Given the description of an element on the screen output the (x, y) to click on. 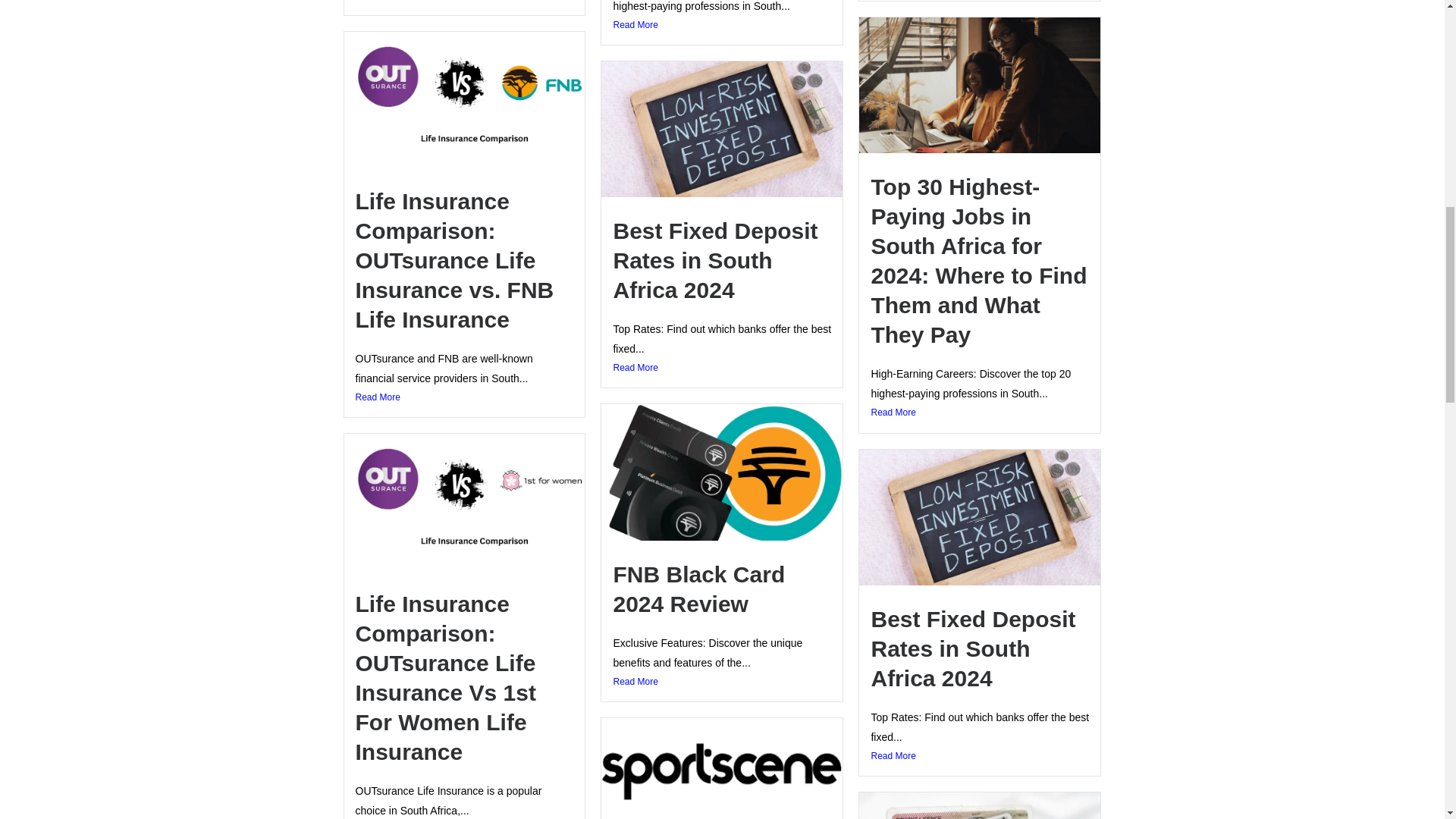
Read More (464, 2)
FNB Black Card 2024 Review (698, 588)
Best Fixed Deposit Rates in South Africa 2024 (714, 260)
Best Fixed Deposit Rates in South Africa 2024 (972, 648)
